Given the description of an element on the screen output the (x, y) to click on. 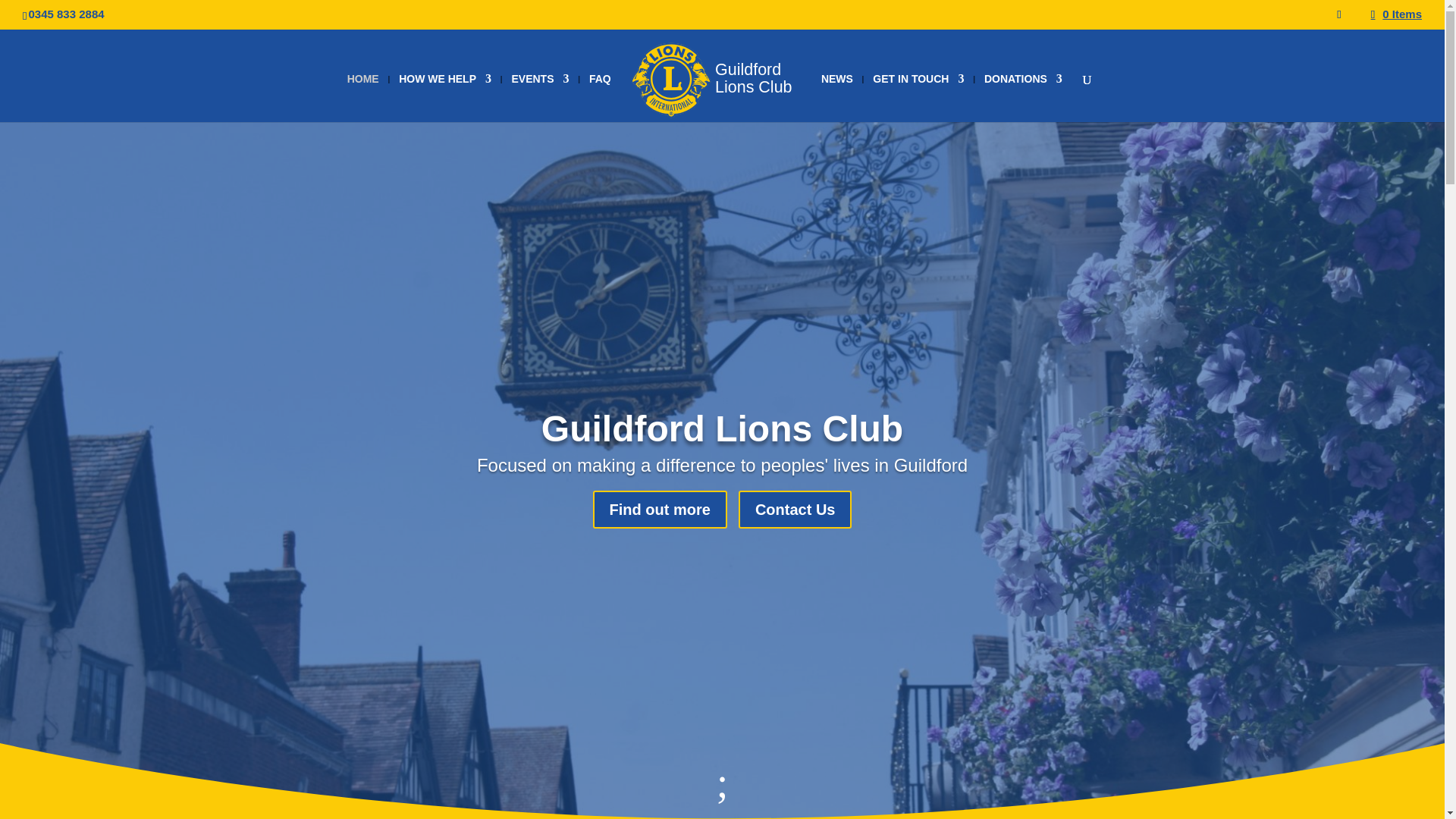
EVENTS (540, 97)
HOW WE HELP (445, 97)
0 Items (1396, 13)
GET IN TOUCH (917, 97)
DONATIONS (1023, 97)
